Given the description of an element on the screen output the (x, y) to click on. 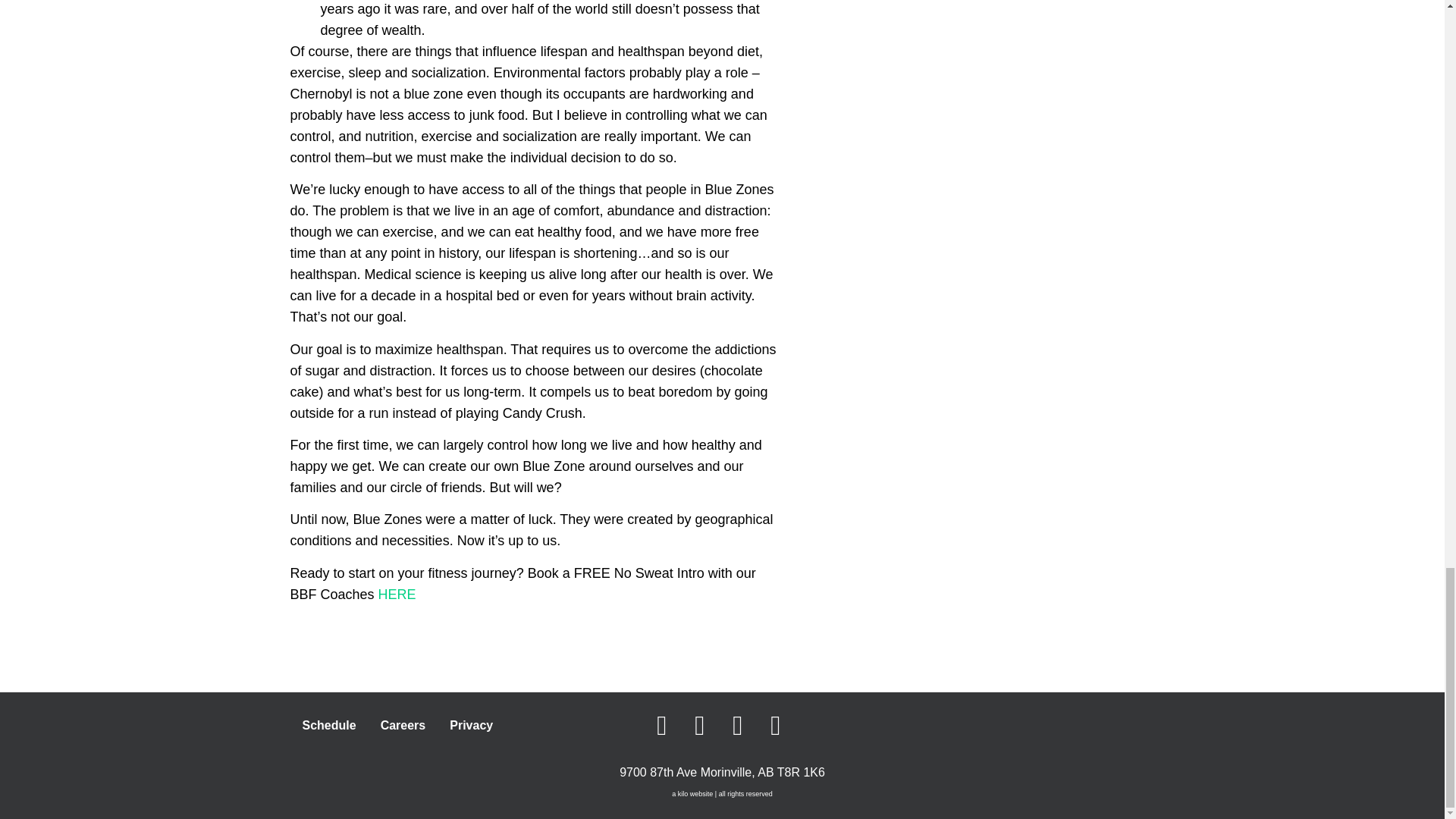
Careers (403, 725)
Privacy (471, 725)
HERE (397, 594)
Schedule (328, 725)
